Given the description of an element on the screen output the (x, y) to click on. 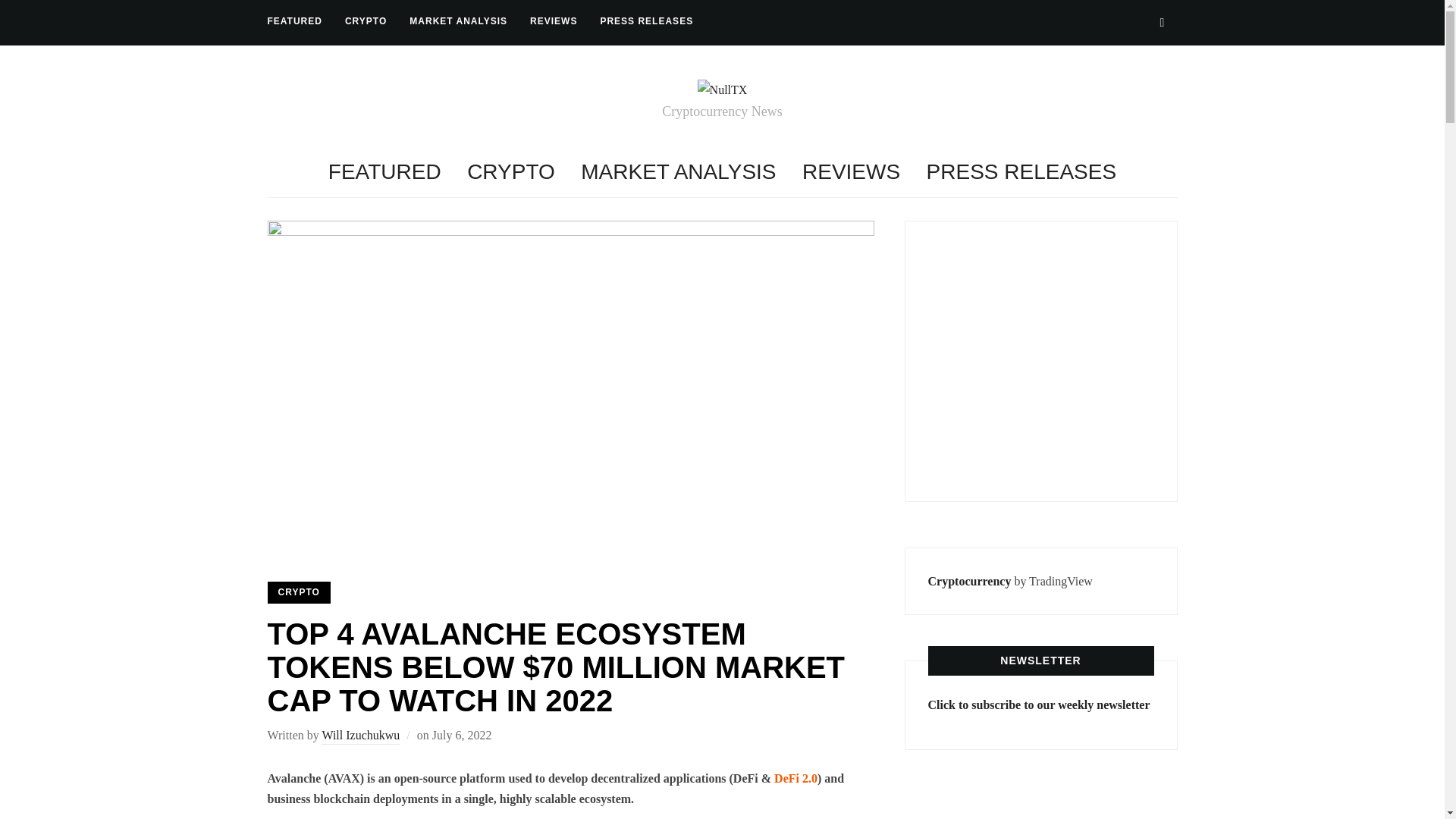
Cryptocurrency (969, 581)
MARKET ANALYSIS (457, 21)
Will Izuchukwu (359, 736)
MARKET ANALYSIS (678, 171)
CRYPTO (298, 591)
DeFi 2.0 (795, 778)
Click to subscribe to our weekly newsletter (1039, 704)
PRESS RELEASES (646, 21)
PRESS RELEASES (1021, 171)
FEATURED (293, 21)
